Given the description of an element on the screen output the (x, y) to click on. 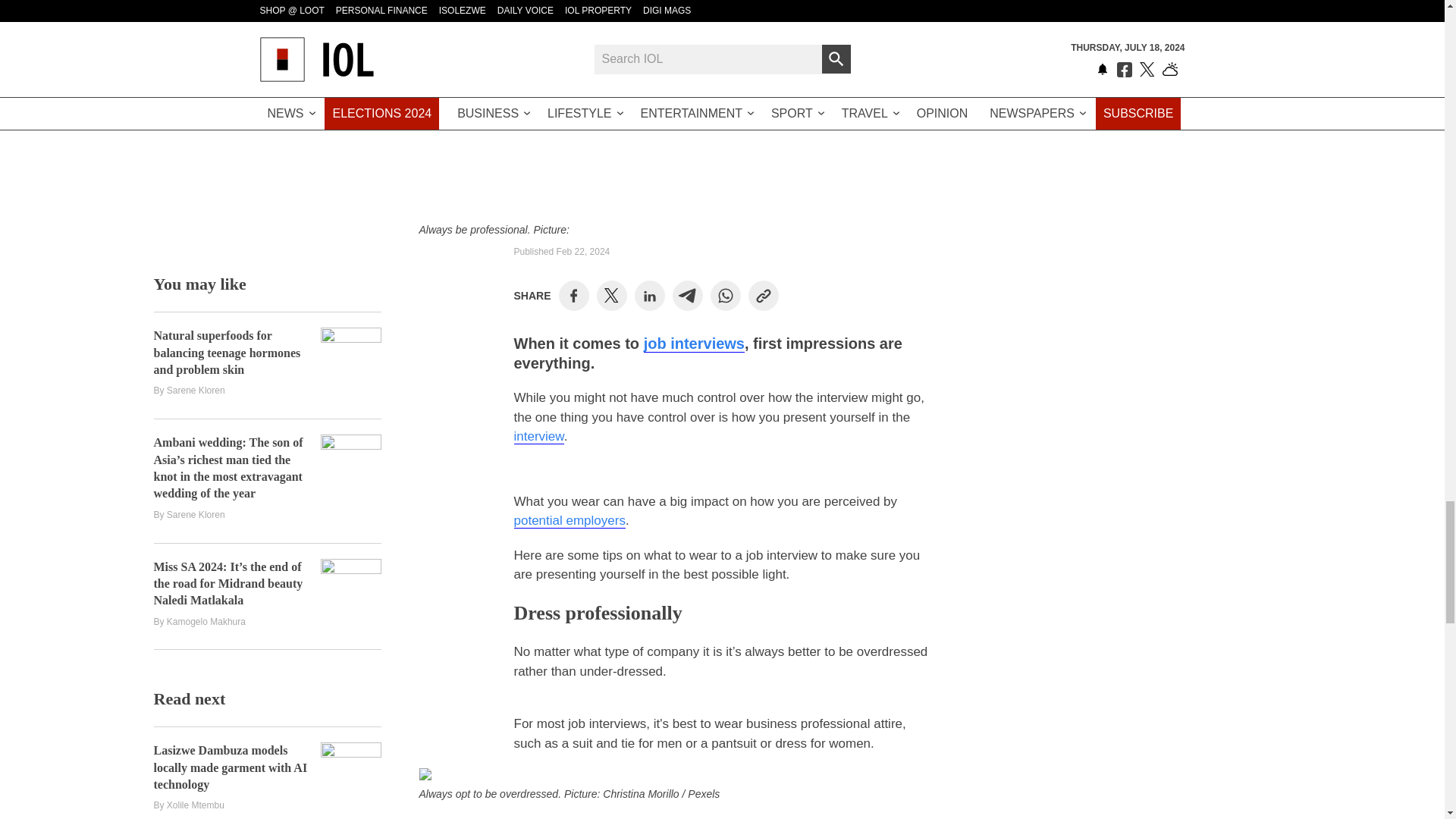
Share on Twitter (611, 295)
Share on Facebook (573, 295)
Share on WhatsApp (725, 295)
Copy to Clipboard (763, 295)
Share on Telegram (686, 295)
Share on LinkedIn (648, 295)
